Given the description of an element on the screen output the (x, y) to click on. 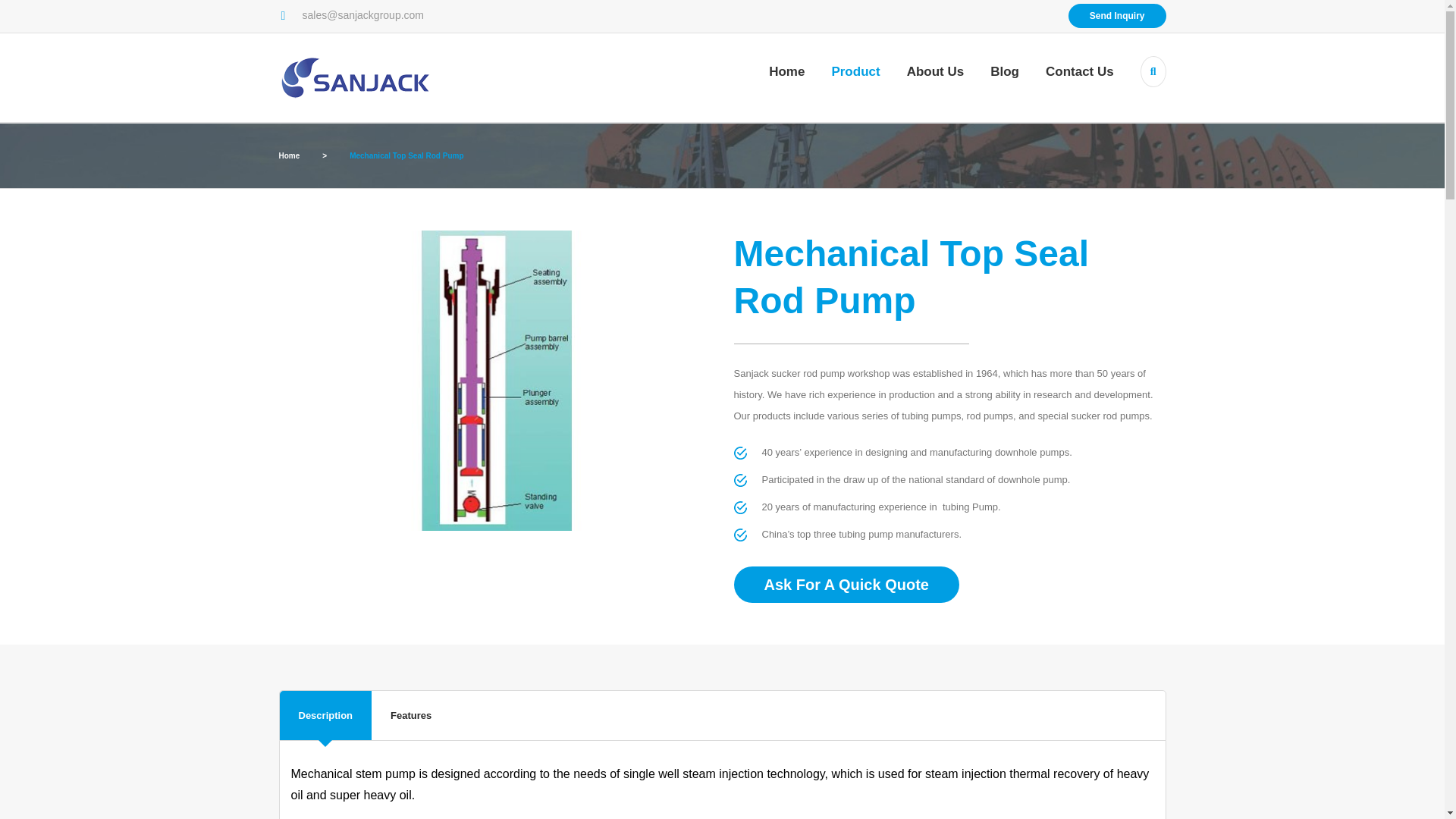
Send Inquiry (1117, 15)
